Given the description of an element on the screen output the (x, y) to click on. 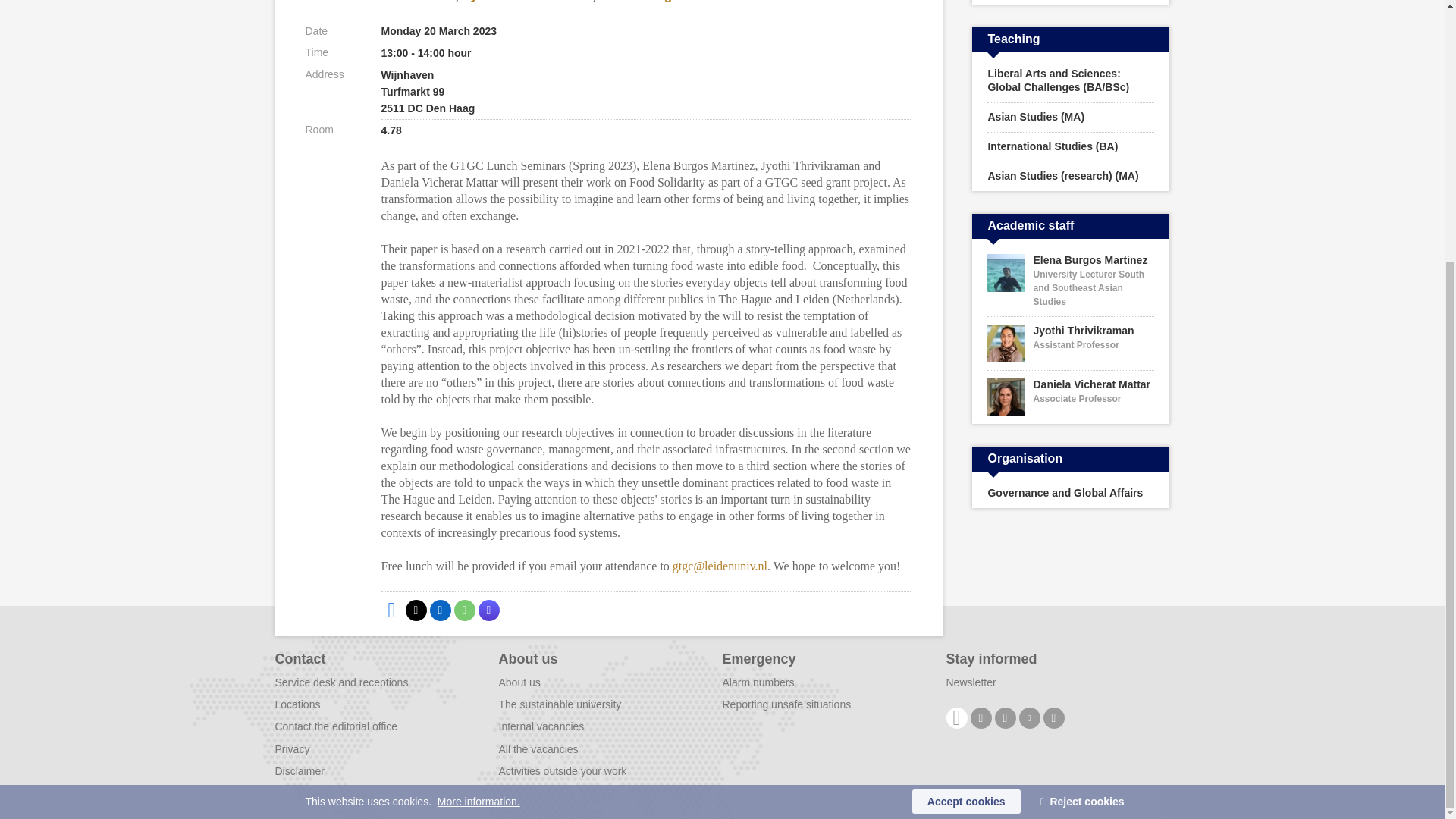
Elena Burgos Martinez (672, 1)
Share by Mastodon (488, 609)
Share on LinkedIn (439, 609)
Daniela Vicherat Mattar (379, 1)
Share on X (415, 609)
Jyothi Thrivikraman (527, 1)
Share by WhatsApp (463, 609)
Resilient Ecosystems and Flourishing Communities (1070, 2)
Share on Facebook (390, 609)
